Given the description of an element on the screen output the (x, y) to click on. 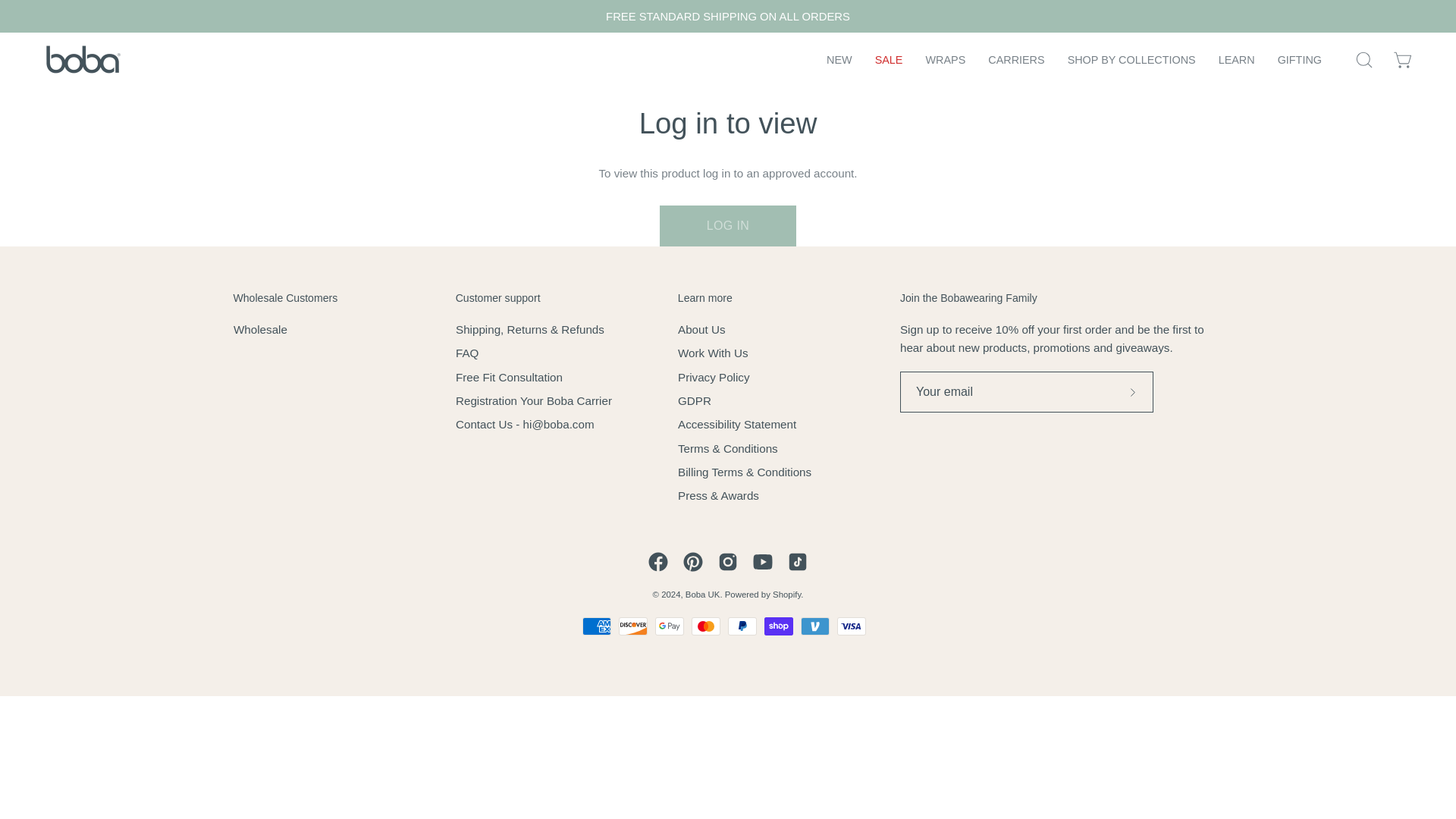
View Boba UK on Facebook (657, 561)
View Boba UK on Youtube (762, 561)
View Boba UK on Pinterest (692, 561)
View Boba UK on Instagram (727, 561)
View Boba UK on Tiktok (797, 561)
